Given the description of an element on the screen output the (x, y) to click on. 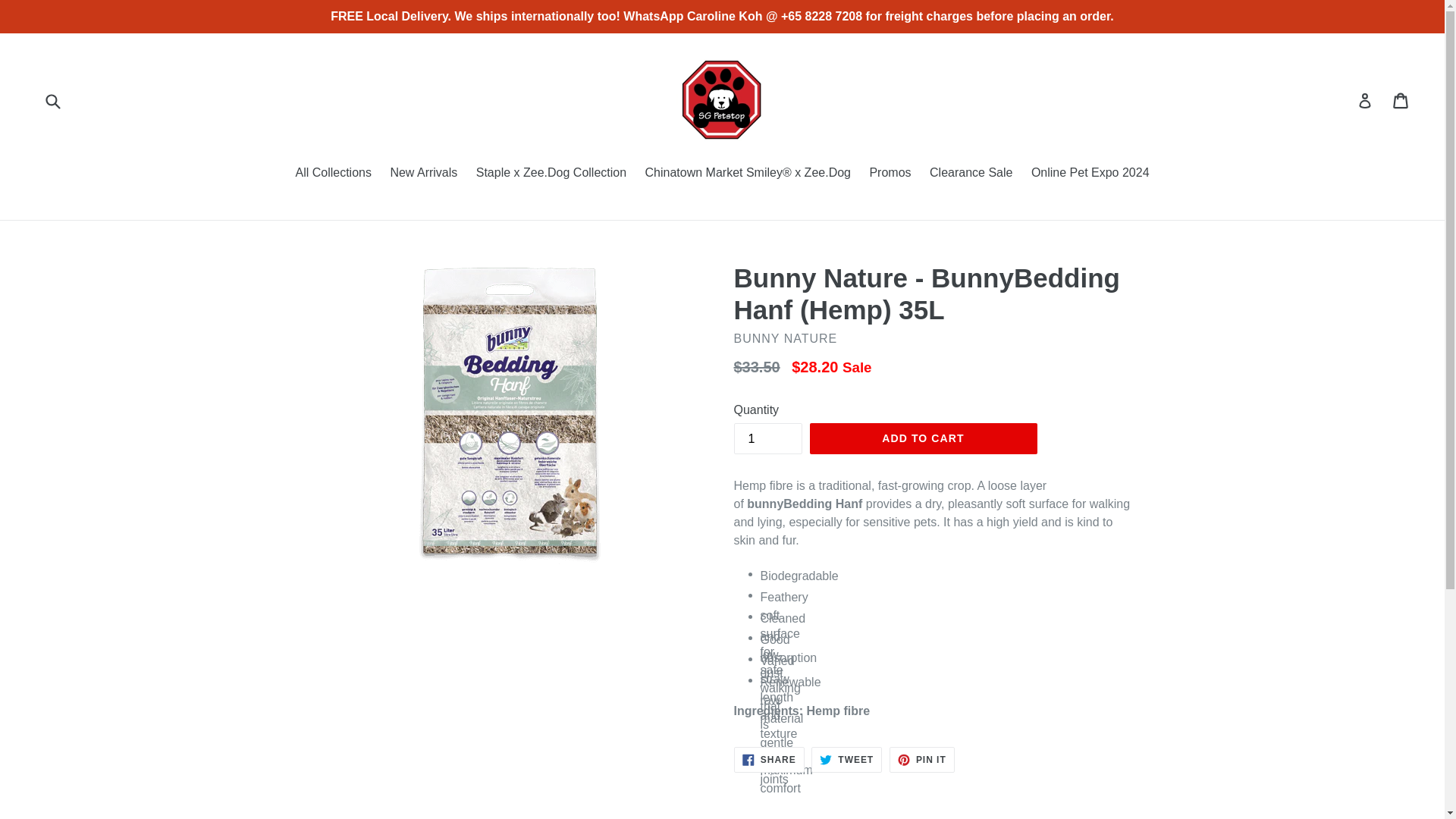
Share on Facebook (769, 759)
Clearance Sale (970, 173)
Pin on Pinterest (922, 759)
All Collections (332, 173)
Online Pet Expo 2024 (769, 759)
Promos (1090, 173)
1 (846, 759)
Staple x Zee.Dog Collection (889, 173)
